Given the description of an element on the screen output the (x, y) to click on. 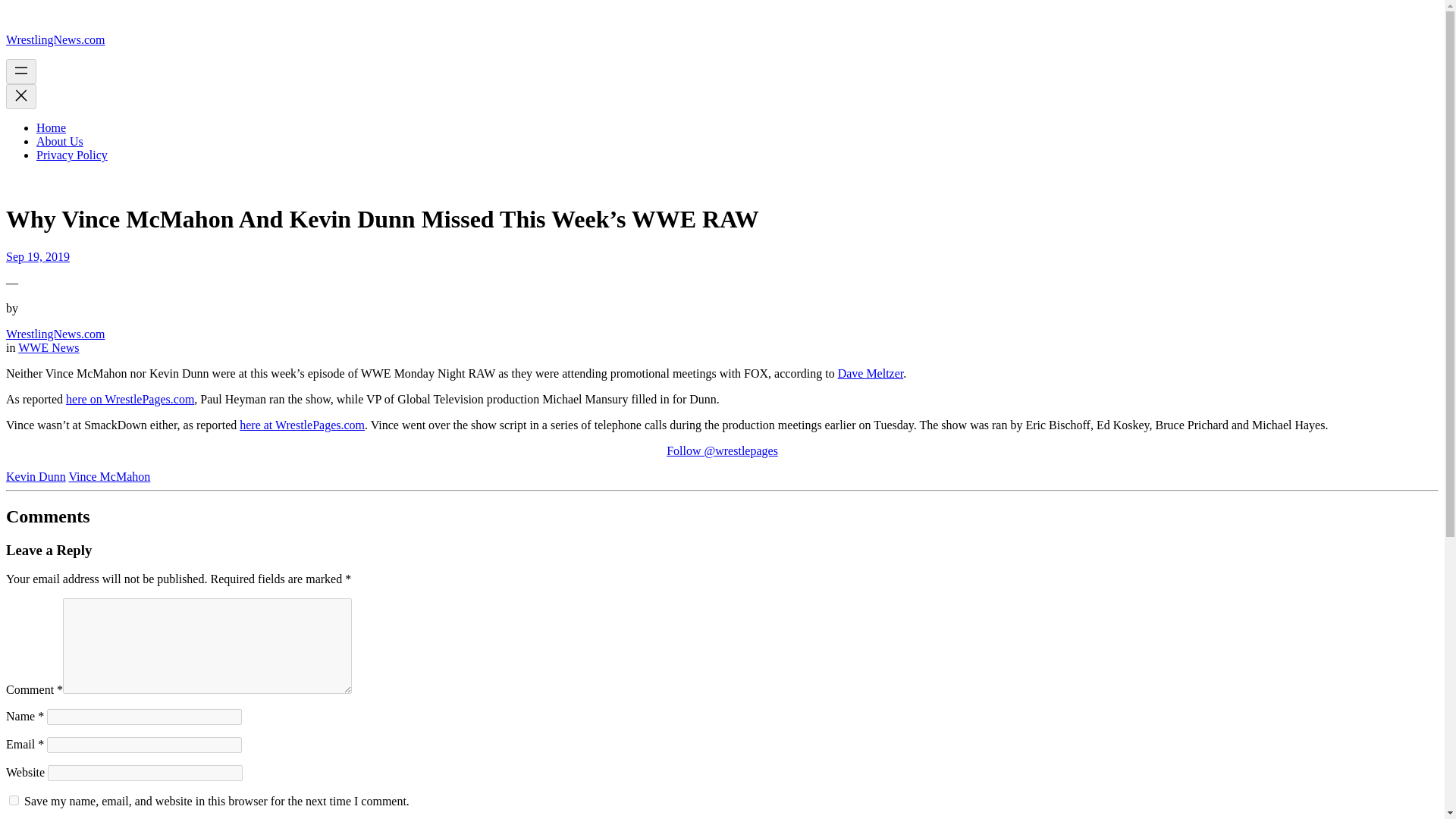
Sep 19, 2019 (37, 256)
Privacy Policy (71, 154)
About Us (59, 141)
Kevin Dunn (35, 476)
Vince McMahon (108, 476)
Home (50, 127)
yes (13, 800)
WrestlingNews.com (54, 333)
WWE News (47, 347)
Dave Meltzer (871, 373)
here on WrestlePages.com (129, 399)
WrestlingNews.com (54, 39)
here at WrestlePages.com (302, 424)
